Given the description of an element on the screen output the (x, y) to click on. 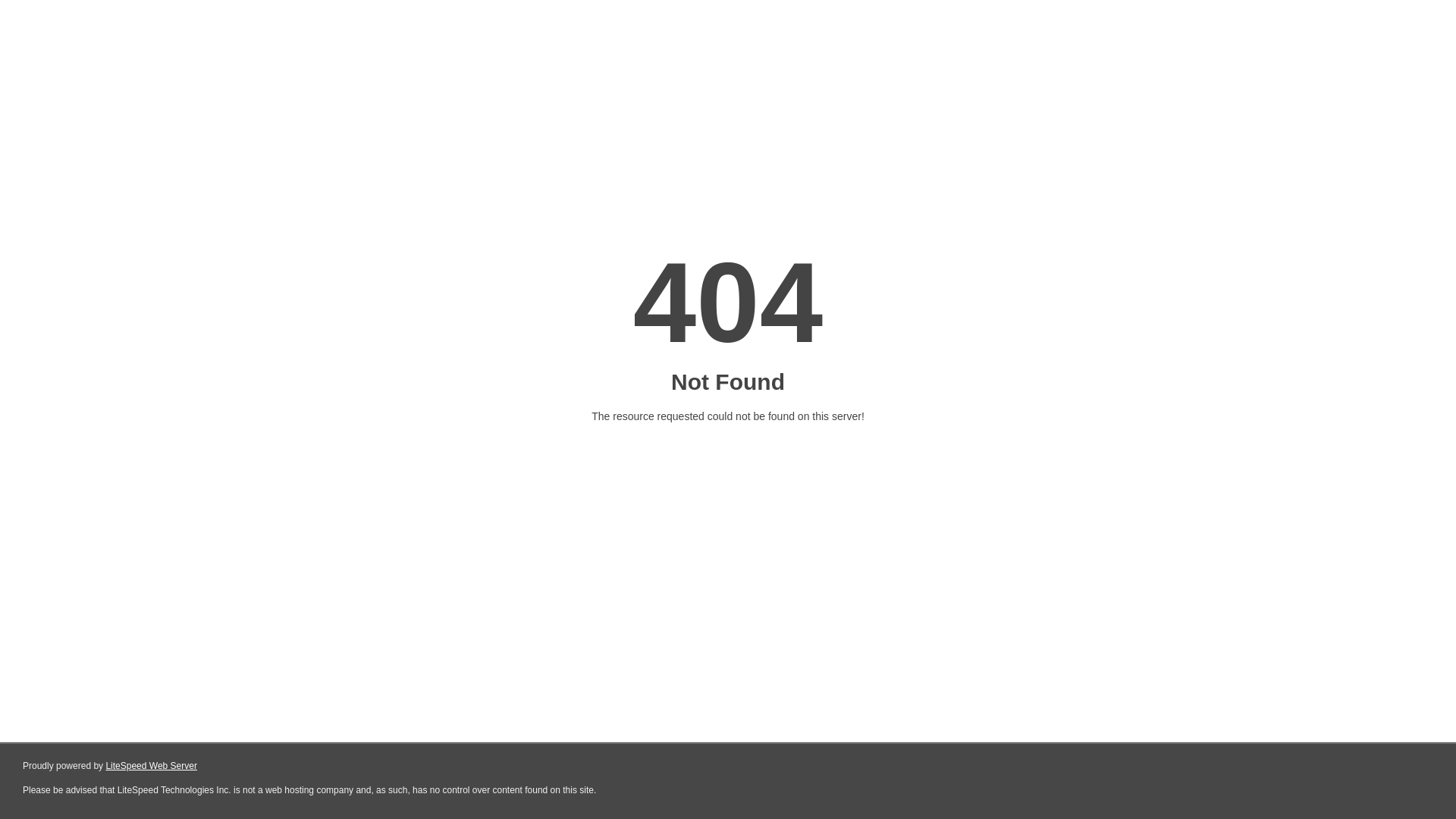
LiteSpeed Web Server Element type: text (151, 765)
